Given the description of an element on the screen output the (x, y) to click on. 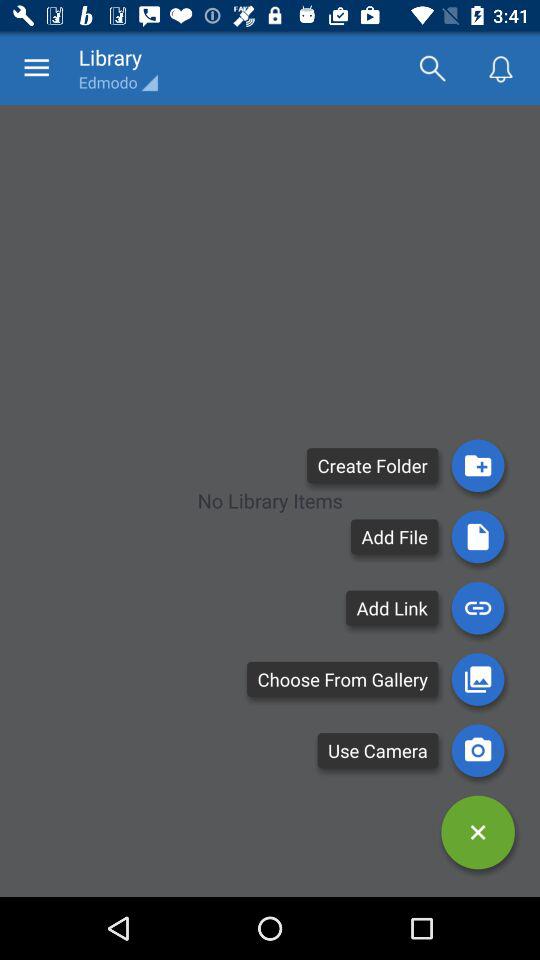
used to add a file (478, 536)
